Given the description of an element on the screen output the (x, y) to click on. 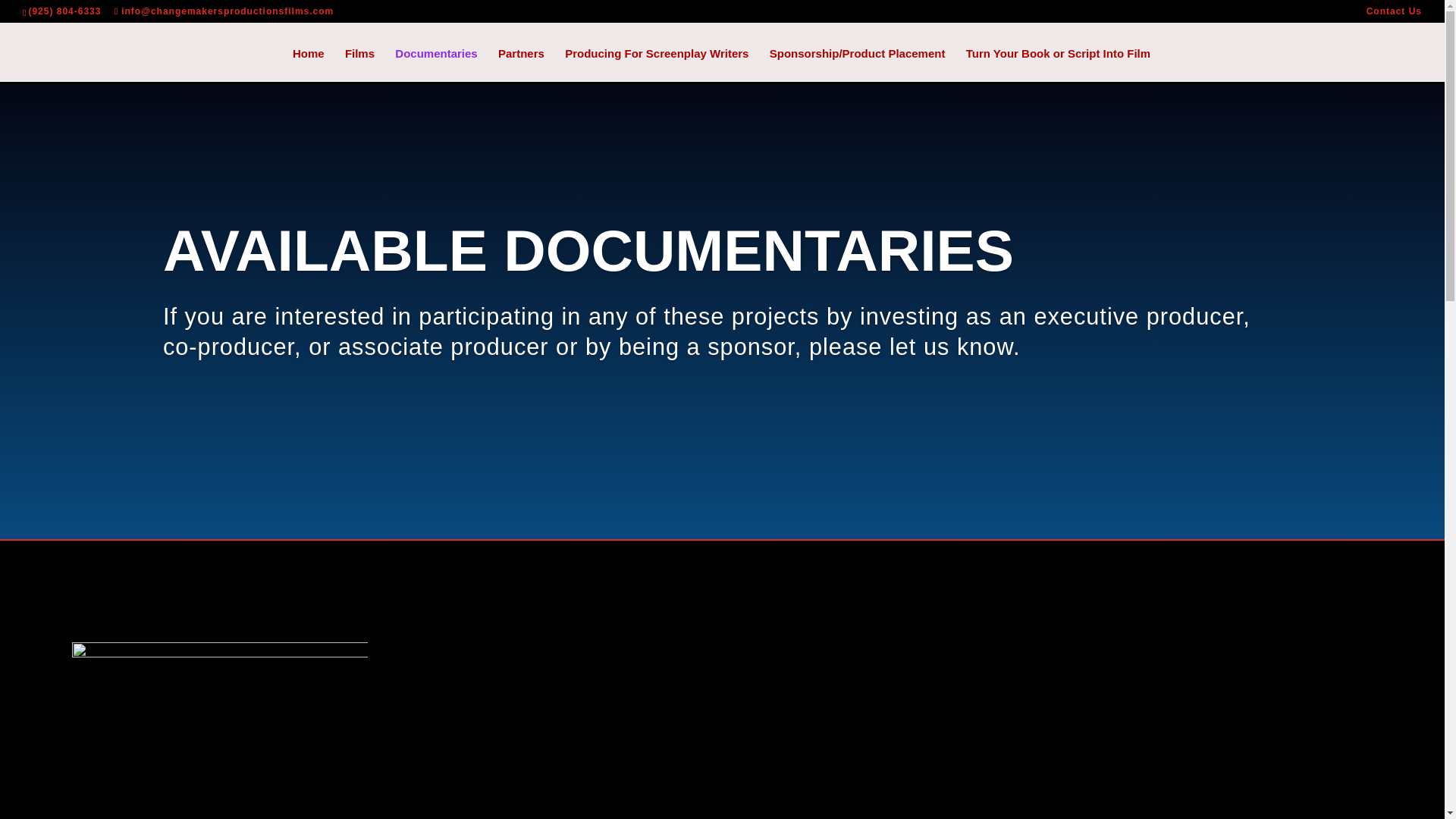
Contact Us (1394, 14)
Producing For Screenplay Writers (656, 64)
Home (308, 64)
Women with Partners Film Poster (219, 730)
Partners (520, 64)
Documentaries (435, 64)
Turn Your Book or Script Into Film (1058, 64)
